Given the description of an element on the screen output the (x, y) to click on. 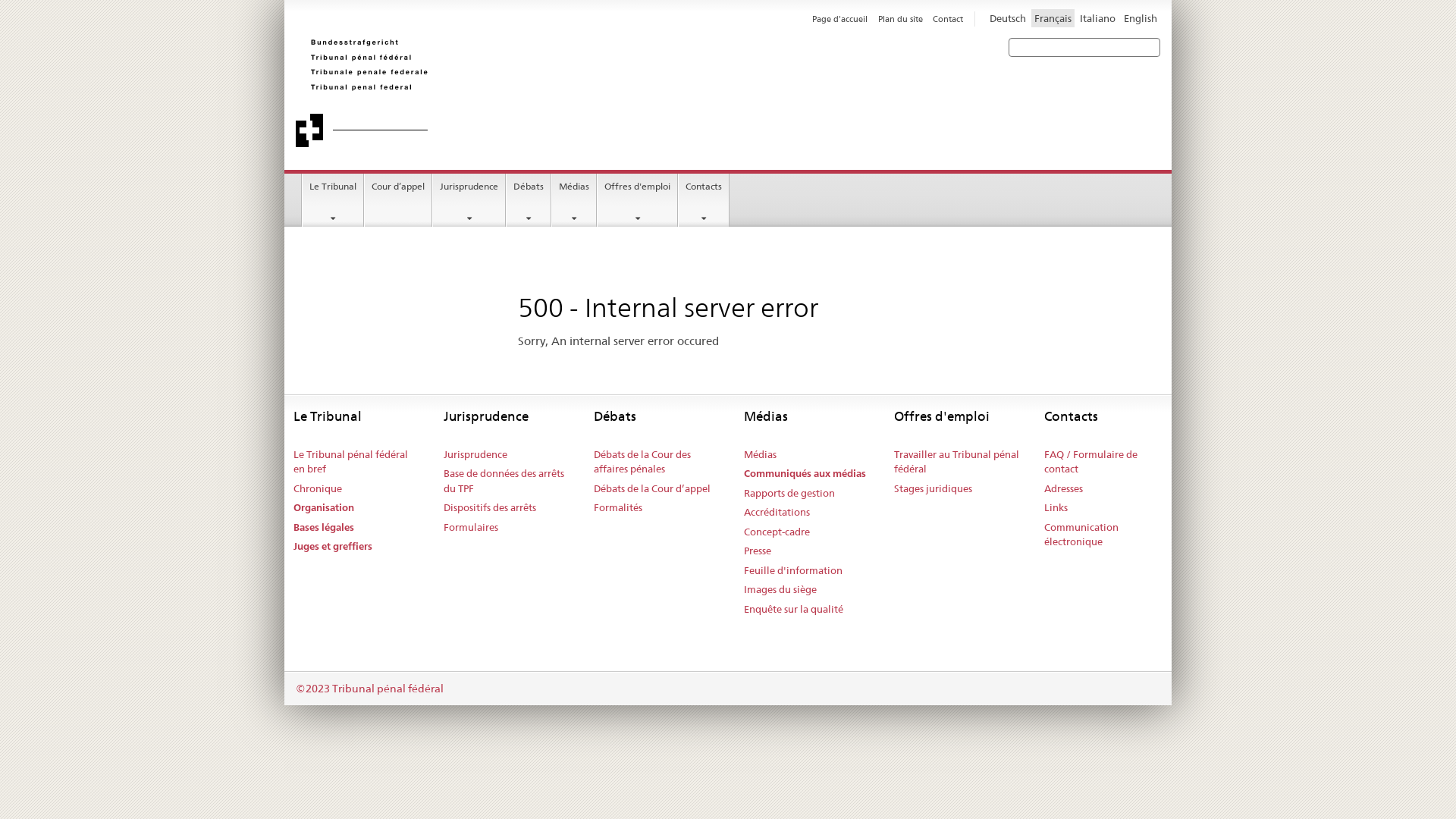
Chronique Element type: text (317, 488)
Le Tribunal Element type: text (332, 199)
Deutsch Element type: text (1007, 18)
Formulaires Element type: text (470, 527)
Rapports de gestion Element type: text (788, 493)
English Element type: text (1140, 18)
Home Element type: hover (511, 92)
Contact Element type: text (947, 18)
Italiano Element type: text (1097, 18)
Offres d'emploi Element type: text (637, 199)
Jurisprudence Element type: text (469, 199)
Concept-cadre Element type: text (776, 532)
Page d'accueil Element type: text (839, 18)
Juges et greffiers Element type: text (332, 546)
Plan du site Element type: text (900, 18)
Presse Element type: text (757, 551)
Jurisprudence Element type: text (475, 454)
Stages juridiques Element type: text (933, 488)
Adresses Element type: text (1063, 488)
Contacts Element type: text (703, 199)
Feuille d'information Element type: text (792, 570)
Organisation Element type: text (323, 507)
FAQ / Formulaire de contact Element type: text (1107, 462)
Links Element type: text (1055, 507)
